Given the description of an element on the screen output the (x, y) to click on. 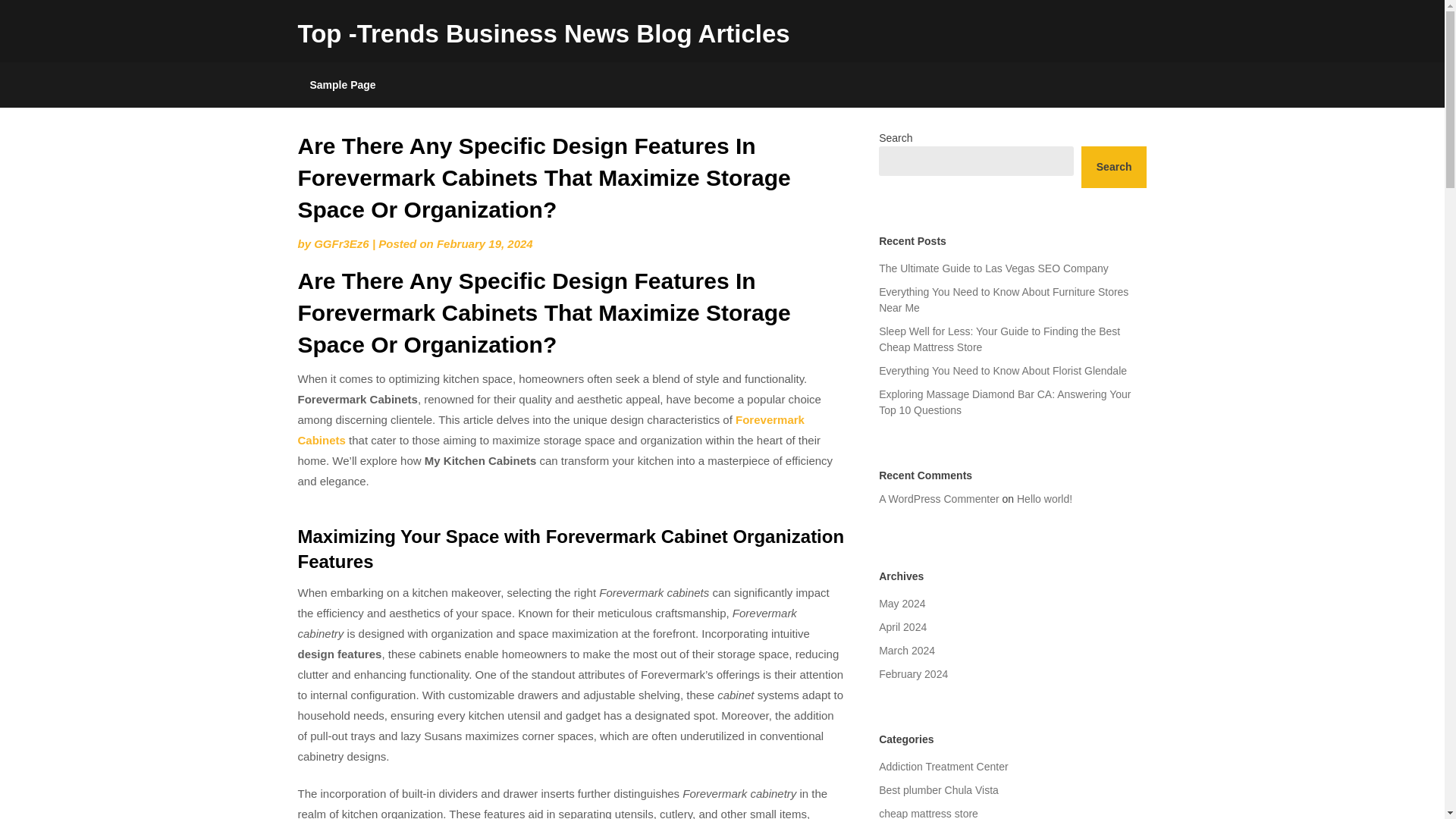
Top -Trends Business News Blog Articles (543, 33)
February 2024 (913, 674)
February 19, 2024 (484, 243)
May 2024 (901, 603)
April 2024 (902, 626)
GGFr3Ez6 (341, 243)
Everything You Need to Know About Furniture Stores Near Me (1003, 299)
cheap mattress store (928, 813)
Sample Page (342, 84)
Addiction Treatment Center (943, 766)
Best plumber Chula Vista (938, 789)
Everything You Need to Know About Florist Glendale (1002, 370)
A WordPress Commenter (938, 499)
Hello world! (1043, 499)
